Given the description of an element on the screen output the (x, y) to click on. 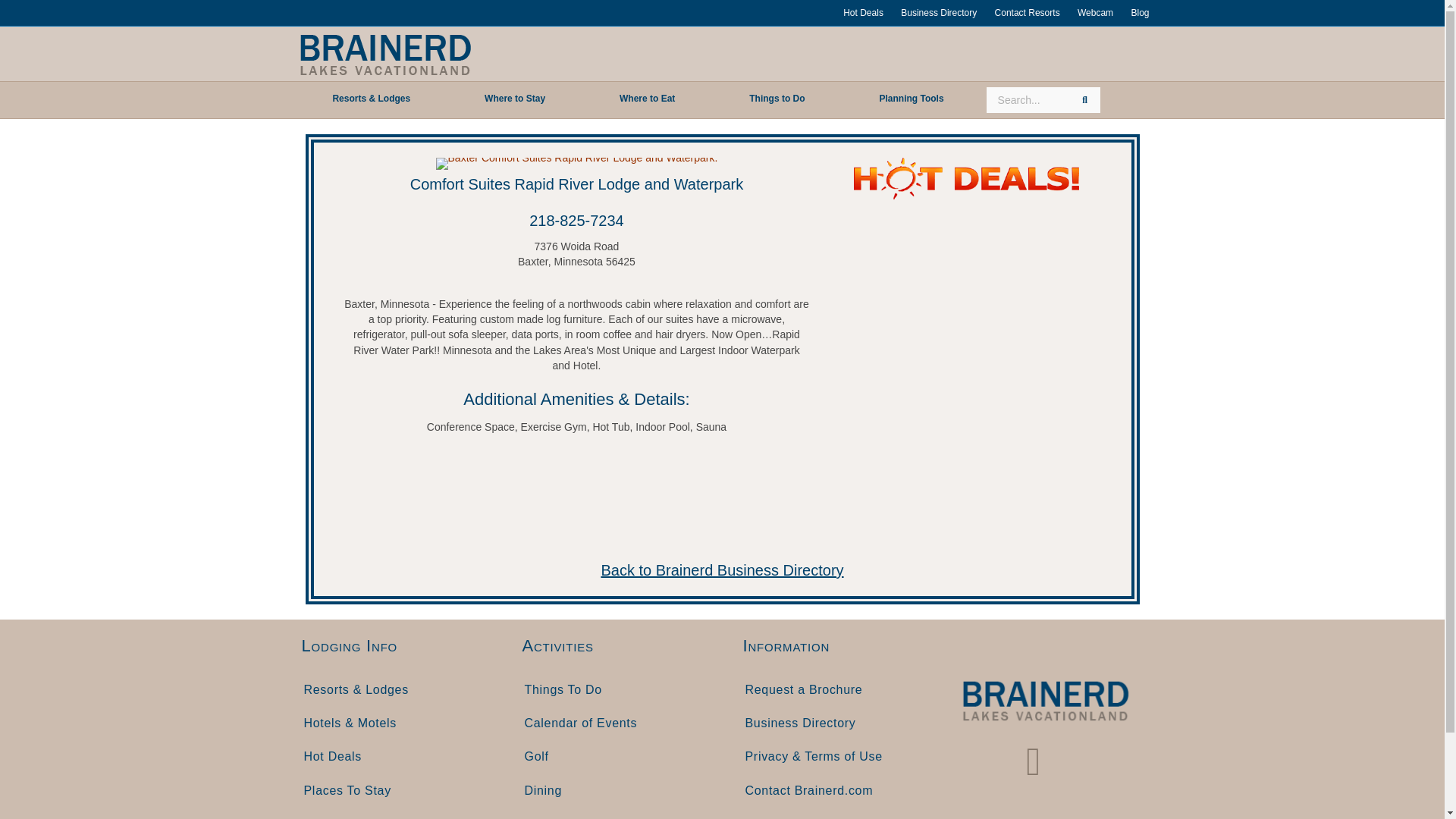
Things to Do (776, 99)
Hot Deals (863, 13)
hotdeals-icon1 (965, 178)
Where to Eat (646, 99)
Webcam (1095, 13)
Where to Stay (514, 99)
Contact Resorts (1027, 13)
Blog (1139, 13)
Back to Brainerd Business Directory (721, 569)
rapid-river-lodge-logo (576, 163)
Comfort Suites Rapid River Lodge and Waterpark (576, 184)
Business Directory (938, 13)
